Given the description of an element on the screen output the (x, y) to click on. 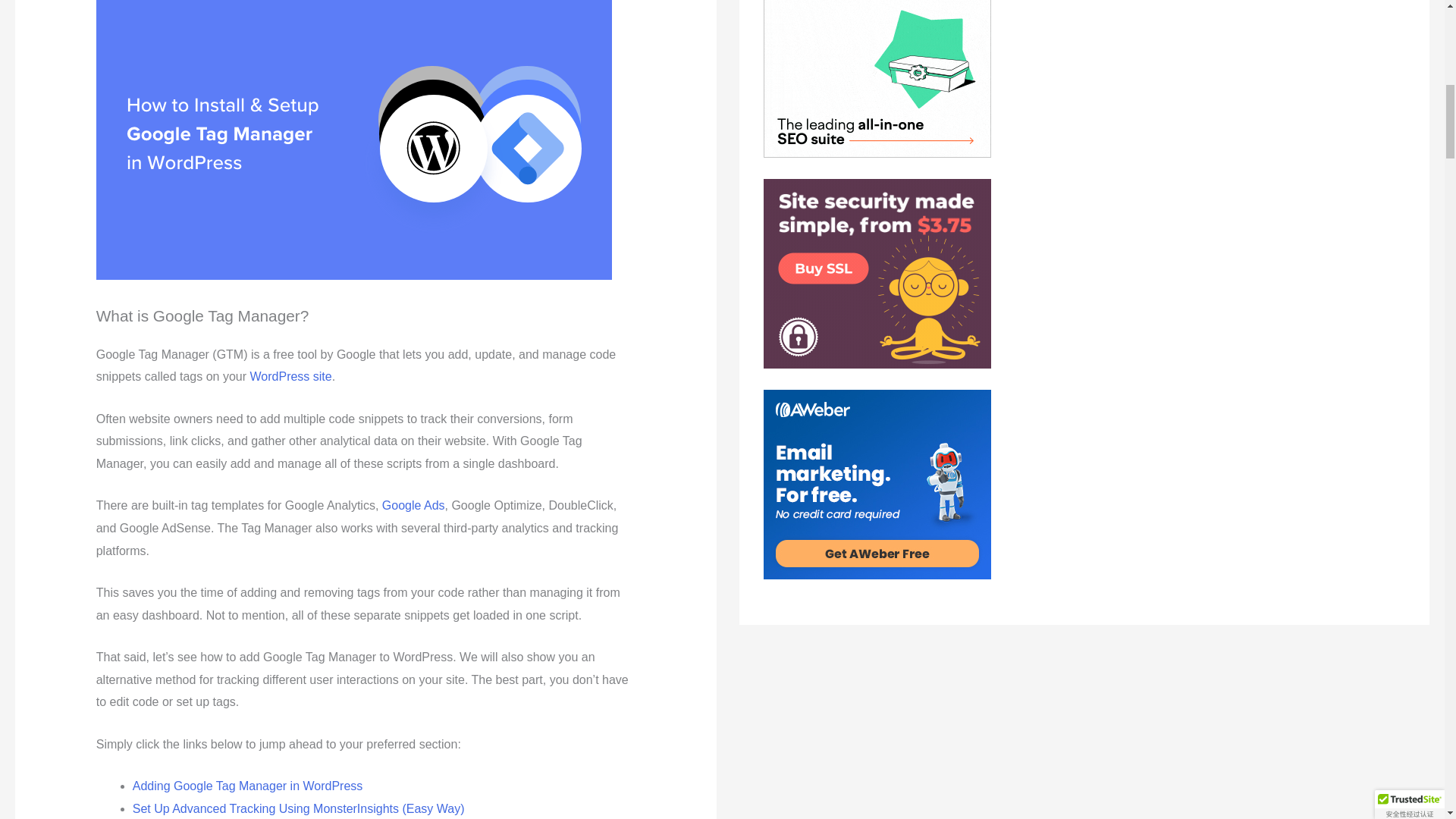
Adding Google Tag Manager in WordPress (247, 785)
Google Ads (413, 504)
WordPress site (290, 376)
How to Set Up Google Ads Conversion Tracking in WordPress (413, 504)
